Given the description of an element on the screen output the (x, y) to click on. 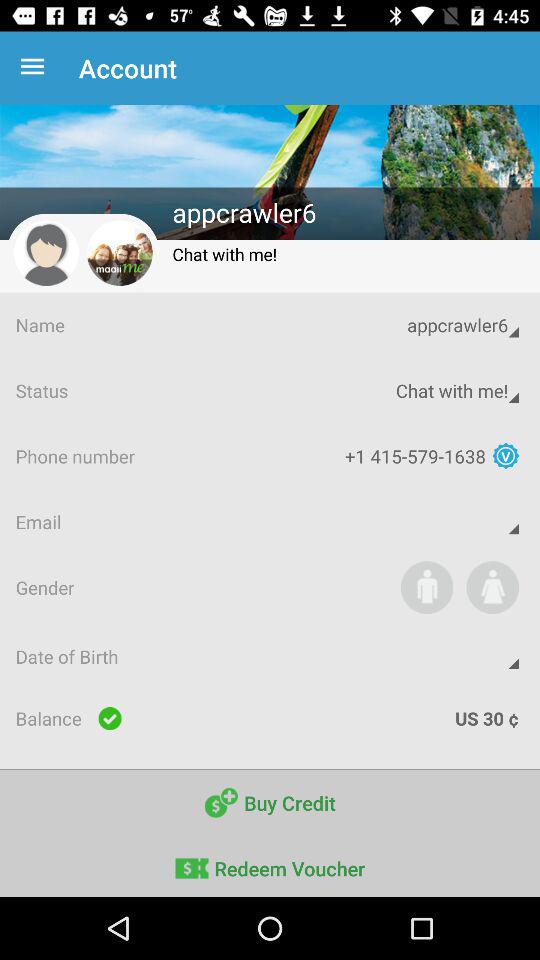
jump until redeem voucher item (270, 865)
